Given the description of an element on the screen output the (x, y) to click on. 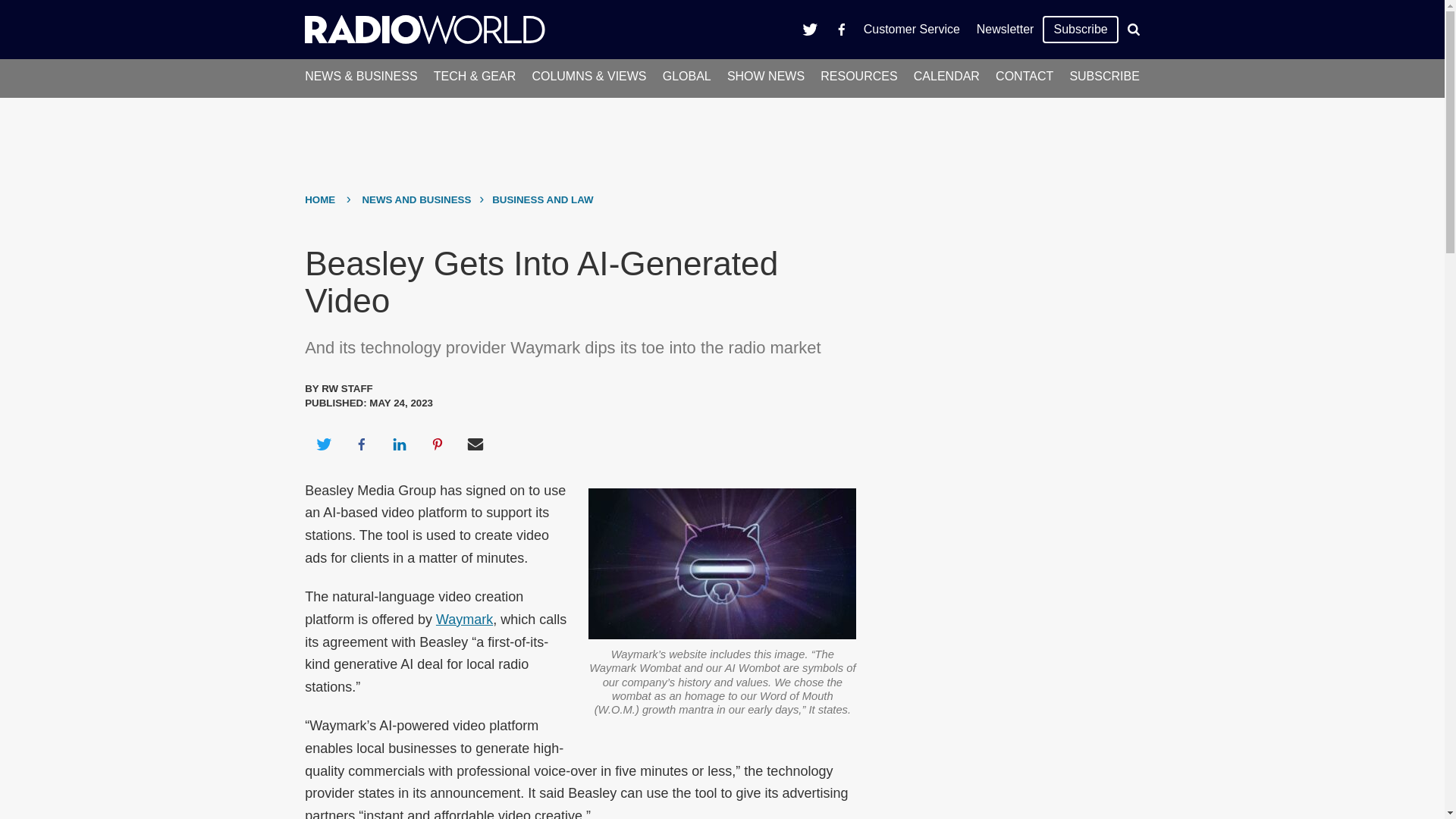
Customer Service (912, 29)
Share on Twitter (323, 444)
Share on Facebook (361, 444)
Share via Email (476, 444)
Share on Pinterest (438, 444)
Share on LinkedIn (399, 444)
